Given the description of an element on the screen output the (x, y) to click on. 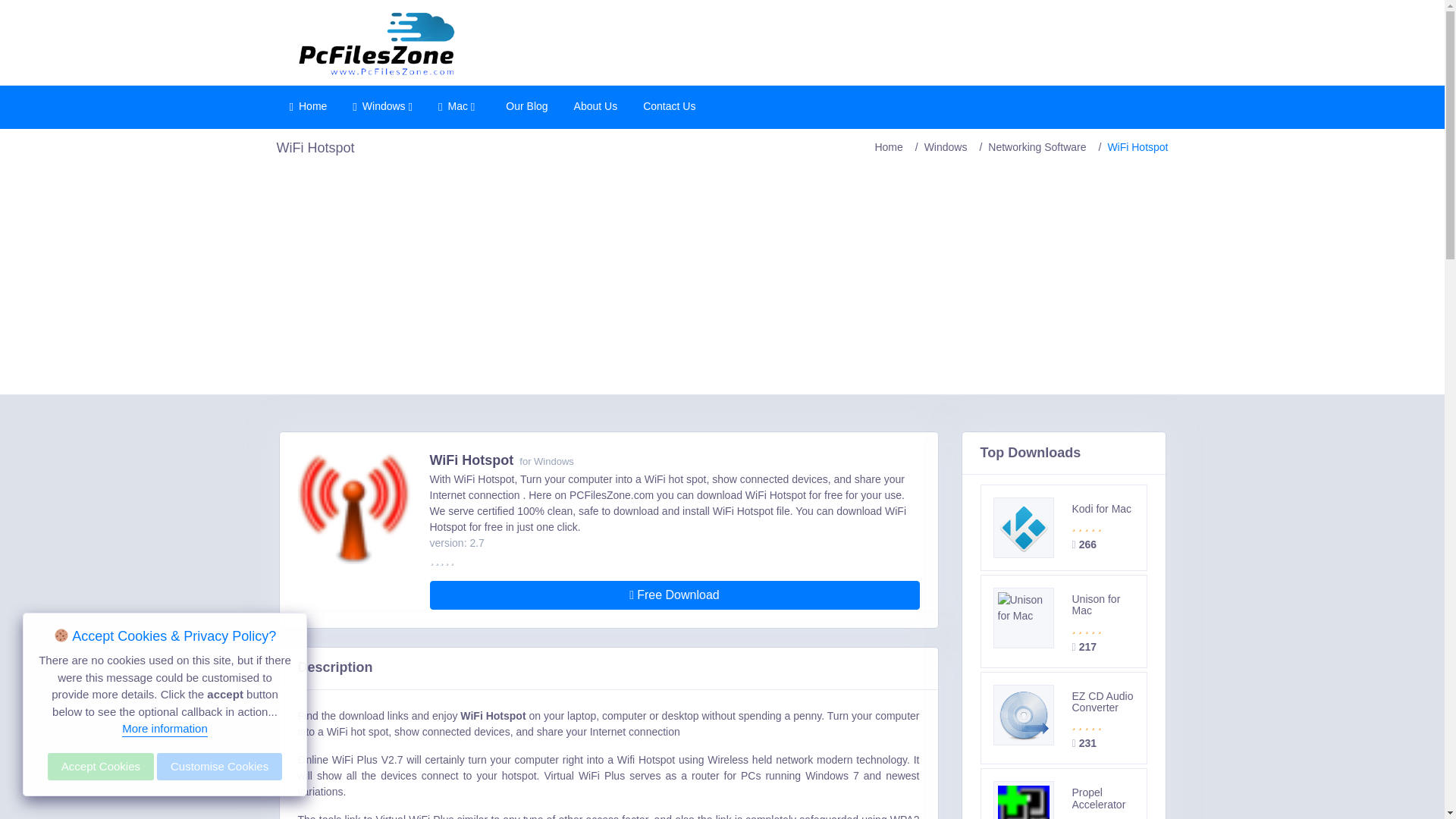
Home (307, 106)
Windows (381, 106)
Mac (456, 106)
